Given the description of an element on the screen output the (x, y) to click on. 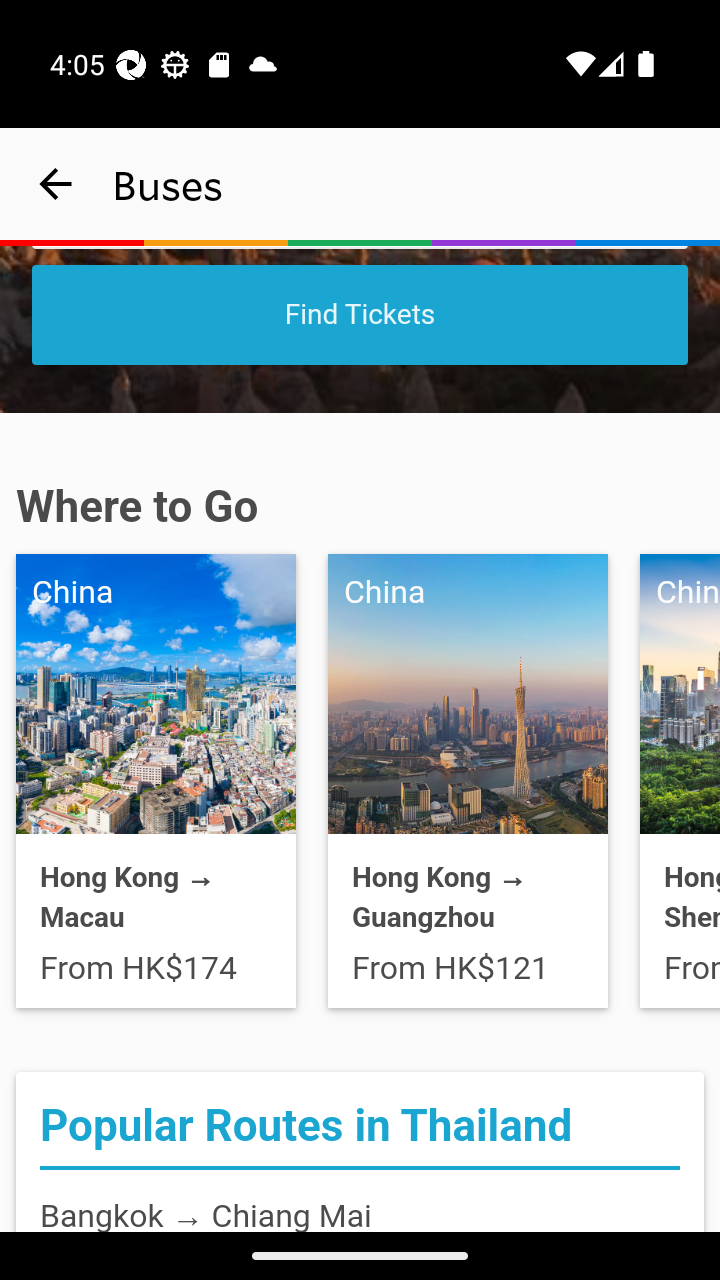
navigation_button (56, 184)
Find Tickets (359, 314)
Bangkok → Chiang Mai (206, 1213)
